Given the description of an element on the screen output the (x, y) to click on. 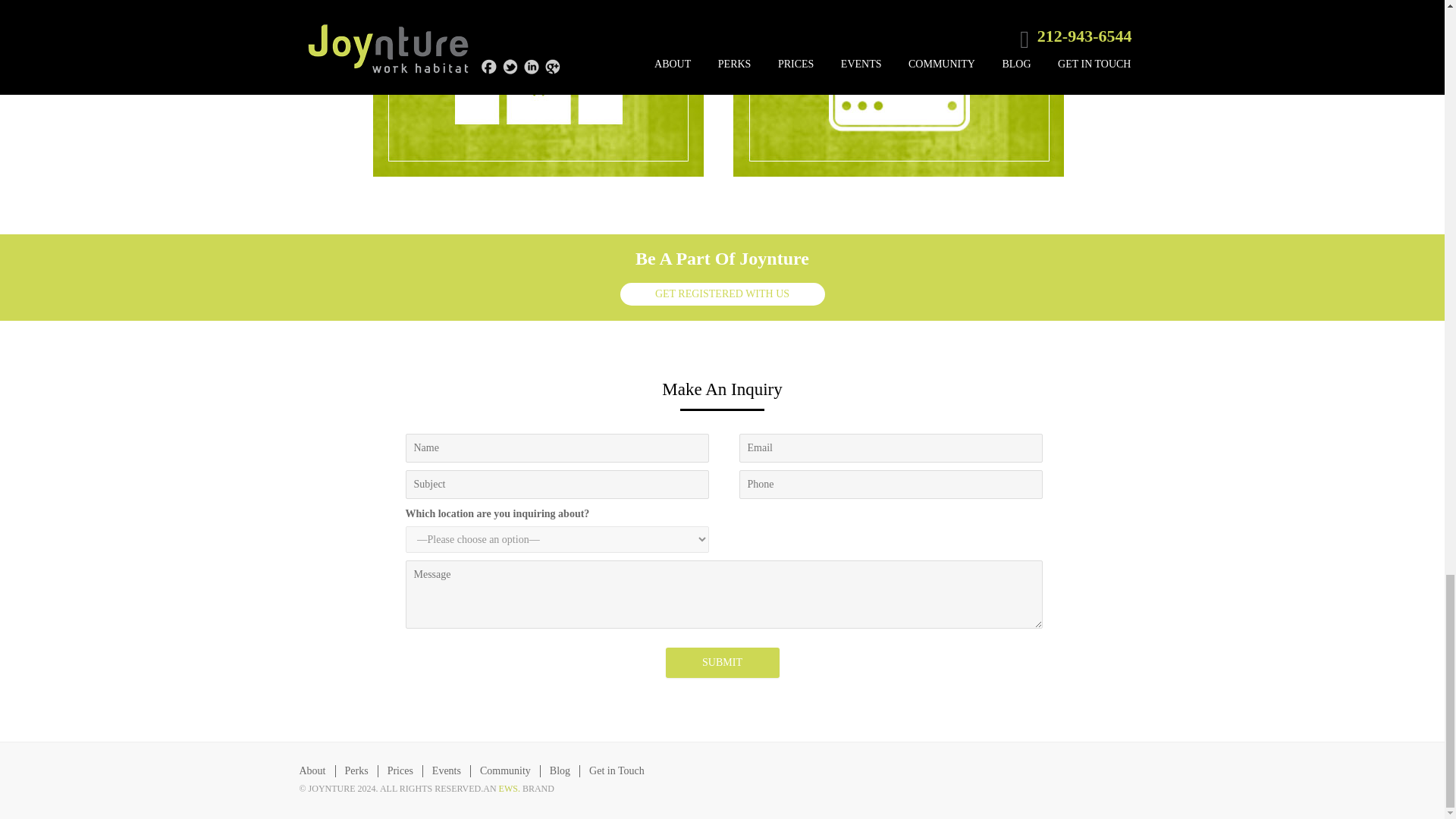
Community (505, 770)
About (311, 770)
GET REGISTERED WITH US (722, 293)
EWS. (509, 787)
Prices (400, 770)
submit (721, 662)
submit (721, 662)
Get in Touch (617, 770)
Perks (355, 770)
Blog (560, 770)
Events (446, 770)
